Given the description of an element on the screen output the (x, y) to click on. 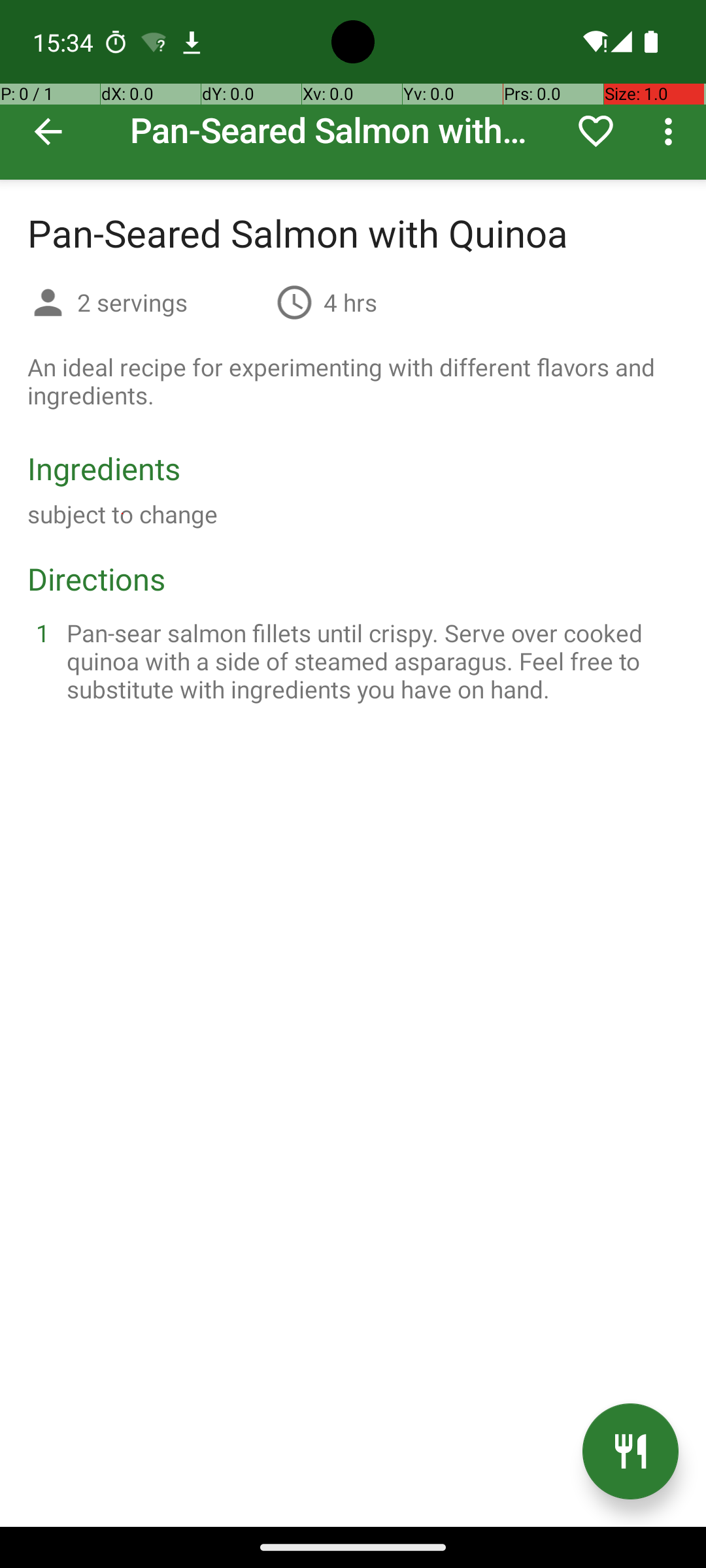
Pan-sear salmon fillets until crispy. Serve over cooked quinoa with a side of steamed asparagus. Feel free to substitute with ingredients you have on hand. Element type: android.widget.TextView (368, 660)
